Given the description of an element on the screen output the (x, y) to click on. 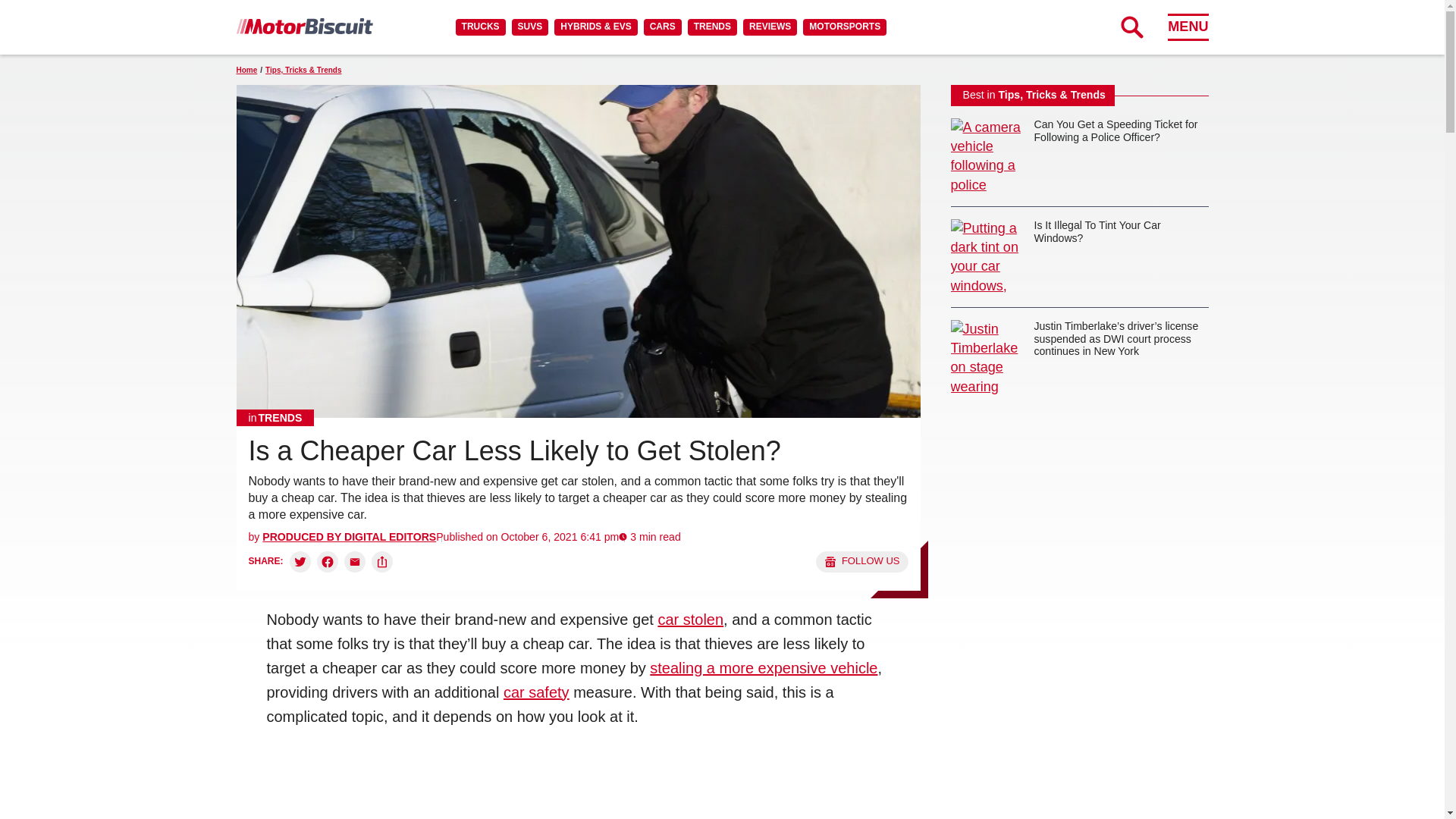
Follow us on Google News (861, 561)
Trends (274, 417)
SUVS (530, 26)
Expand Search (1131, 26)
TRUCKS (480, 26)
MotorBiscuit (303, 26)
TRENDS (711, 26)
Copy link and share:  (382, 561)
REVIEWS (769, 26)
MENU (1187, 26)
CARS (662, 26)
MOTORSPORTS (844, 26)
